Given the description of an element on the screen output the (x, y) to click on. 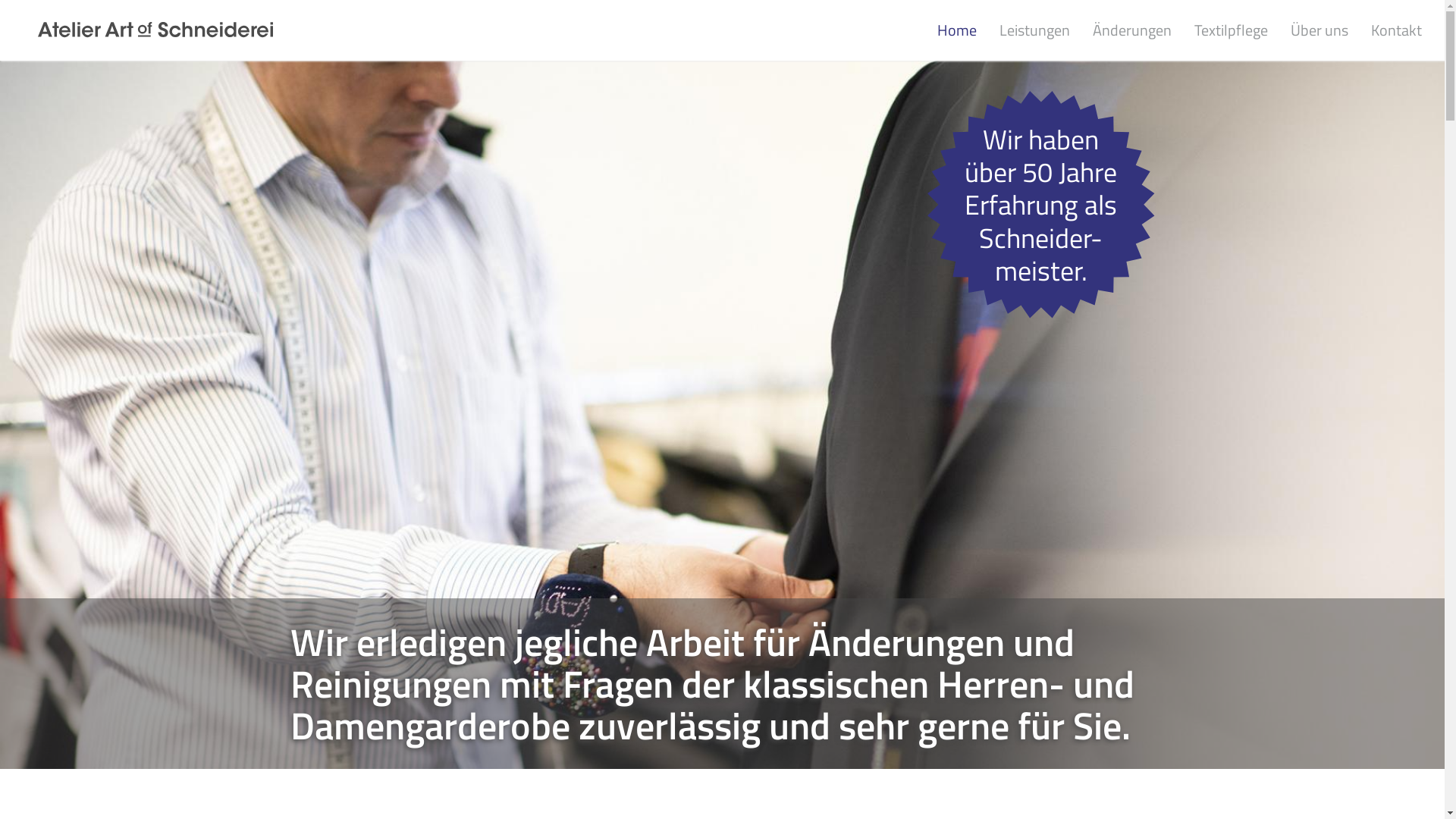
Kontakt Element type: text (1396, 30)
Textilpflege Element type: text (1231, 30)
Home Element type: text (956, 30)
Leistungen Element type: text (1034, 30)
